Given the description of an element on the screen output the (x, y) to click on. 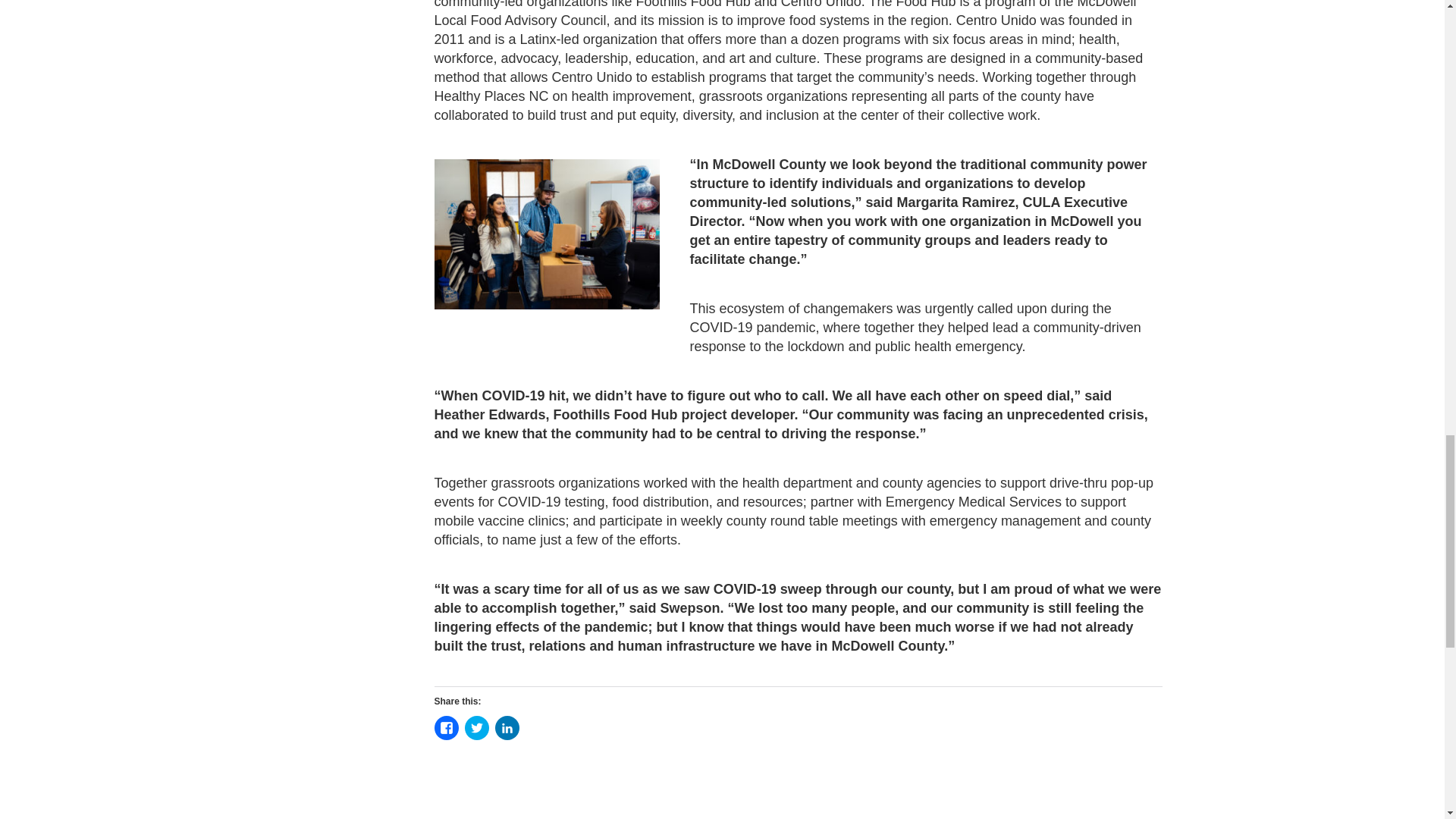
Click to share on Facebook (445, 727)
Click to share on Twitter (475, 727)
Click to share on LinkedIn (506, 727)
